Given the description of an element on the screen output the (x, y) to click on. 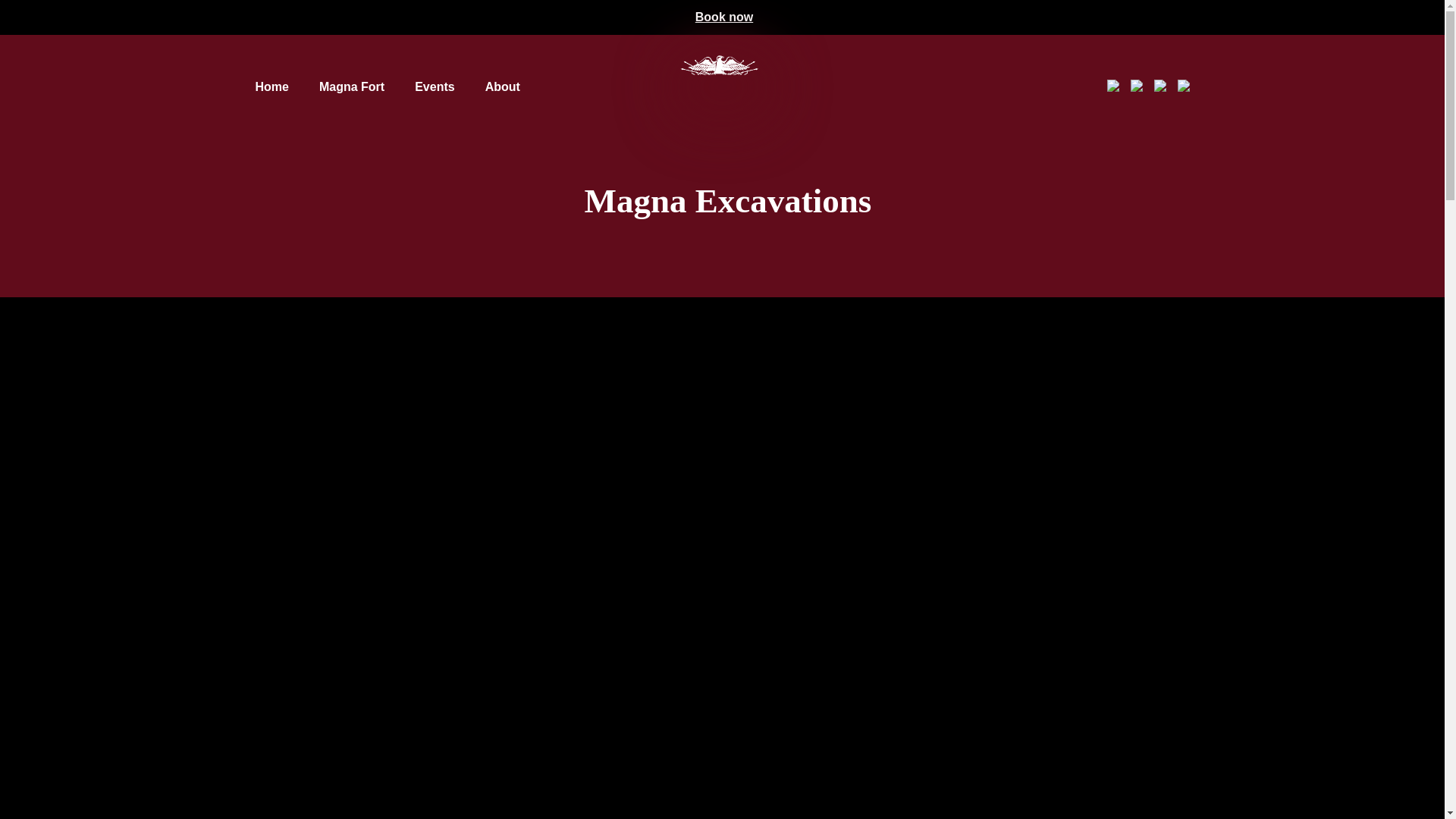
Events (434, 86)
Magna Fort (351, 86)
About (501, 86)
Book now (723, 17)
Home (271, 86)
